Given the description of an element on the screen output the (x, y) to click on. 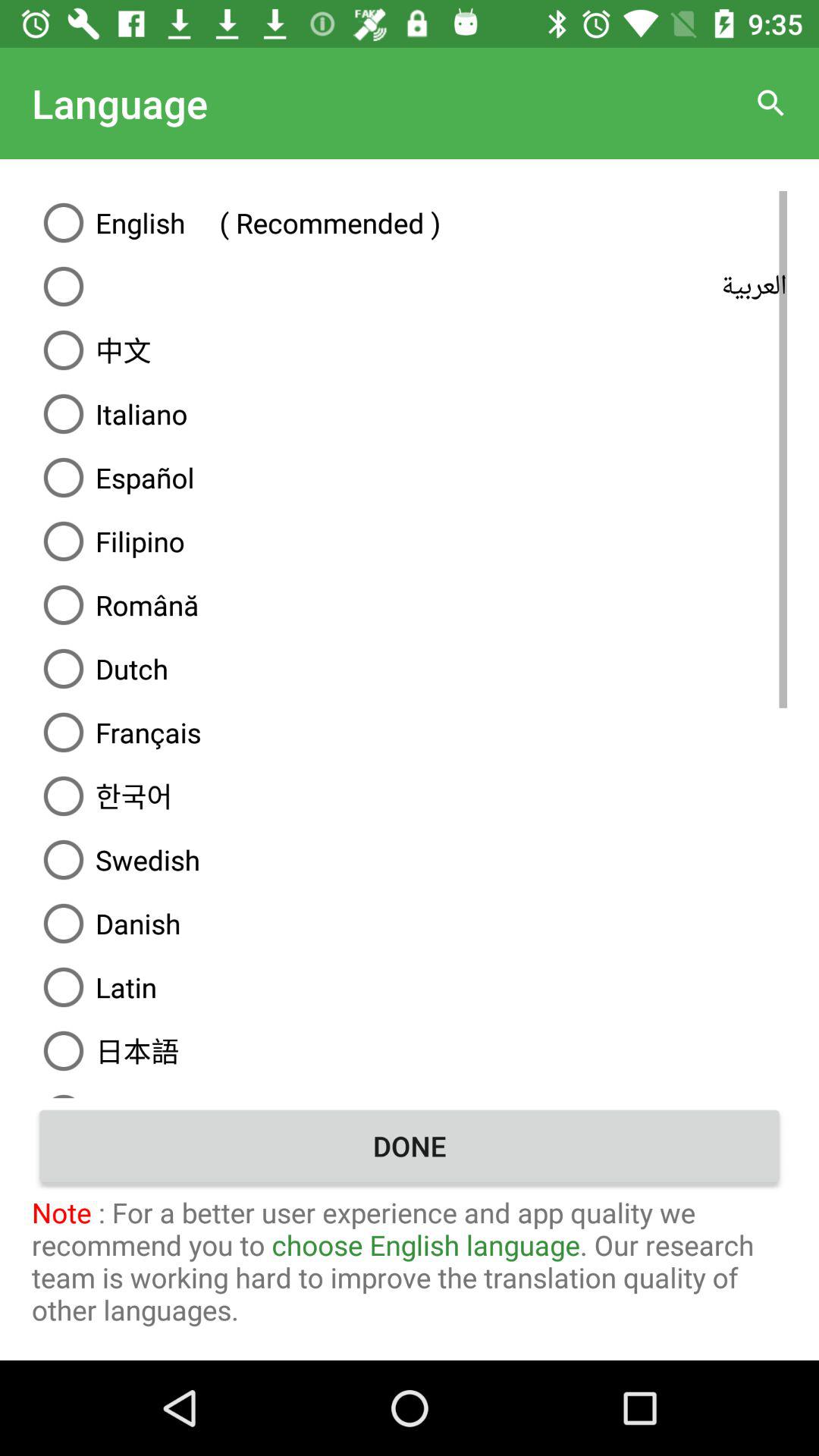
choose the item below the italiano icon (409, 477)
